Given the description of an element on the screen output the (x, y) to click on. 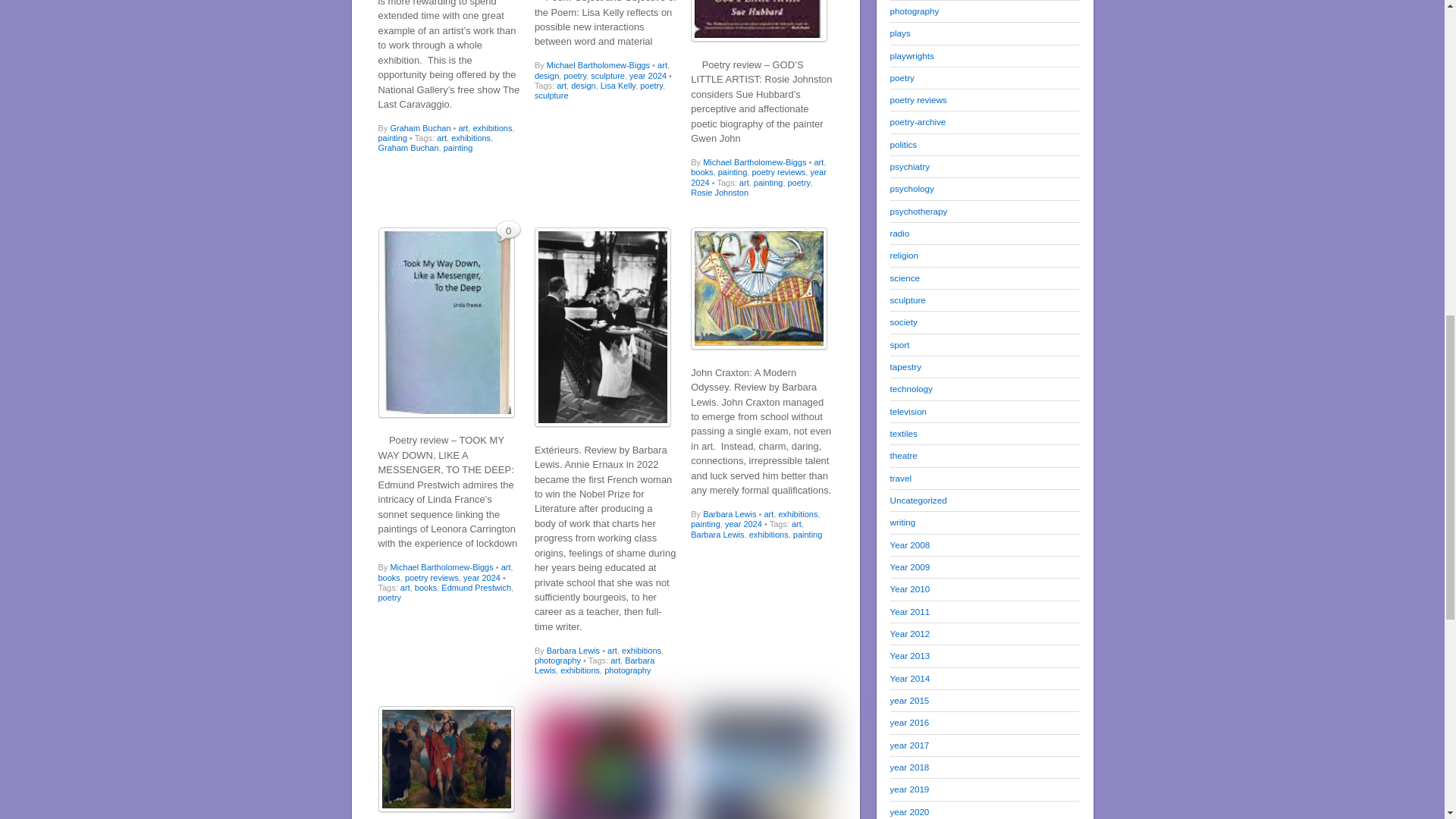
painting (392, 137)
exhibitions (470, 137)
Graham Buchan (419, 127)
HUBBARD (758, 21)
RayHarryhausen (602, 762)
art (462, 127)
Graham Buchan (407, 147)
exhibitions (491, 127)
HansMemling (445, 758)
art (441, 137)
